Given the description of an element on the screen output the (x, y) to click on. 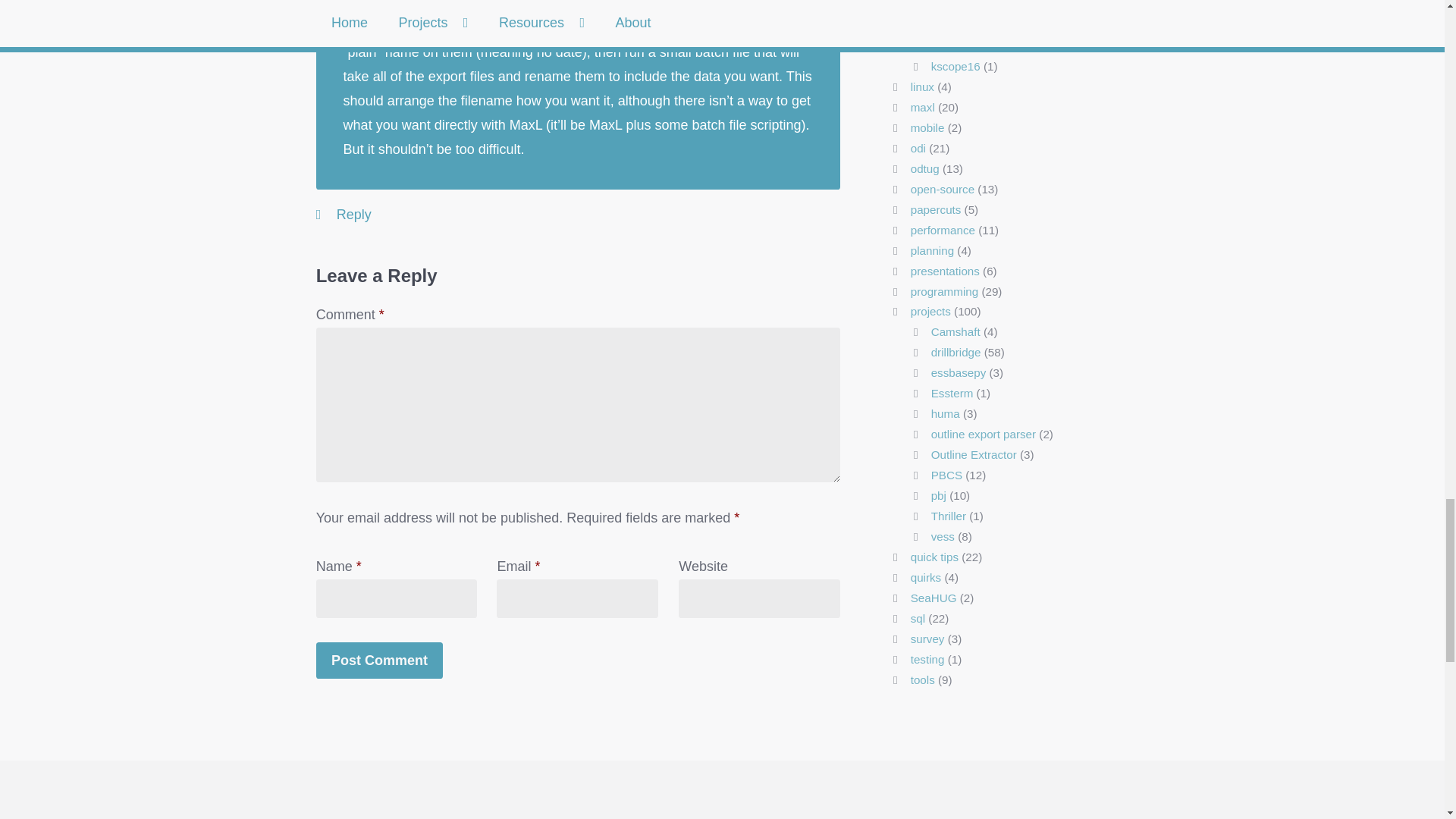
Post Comment (379, 660)
